Given the description of an element on the screen output the (x, y) to click on. 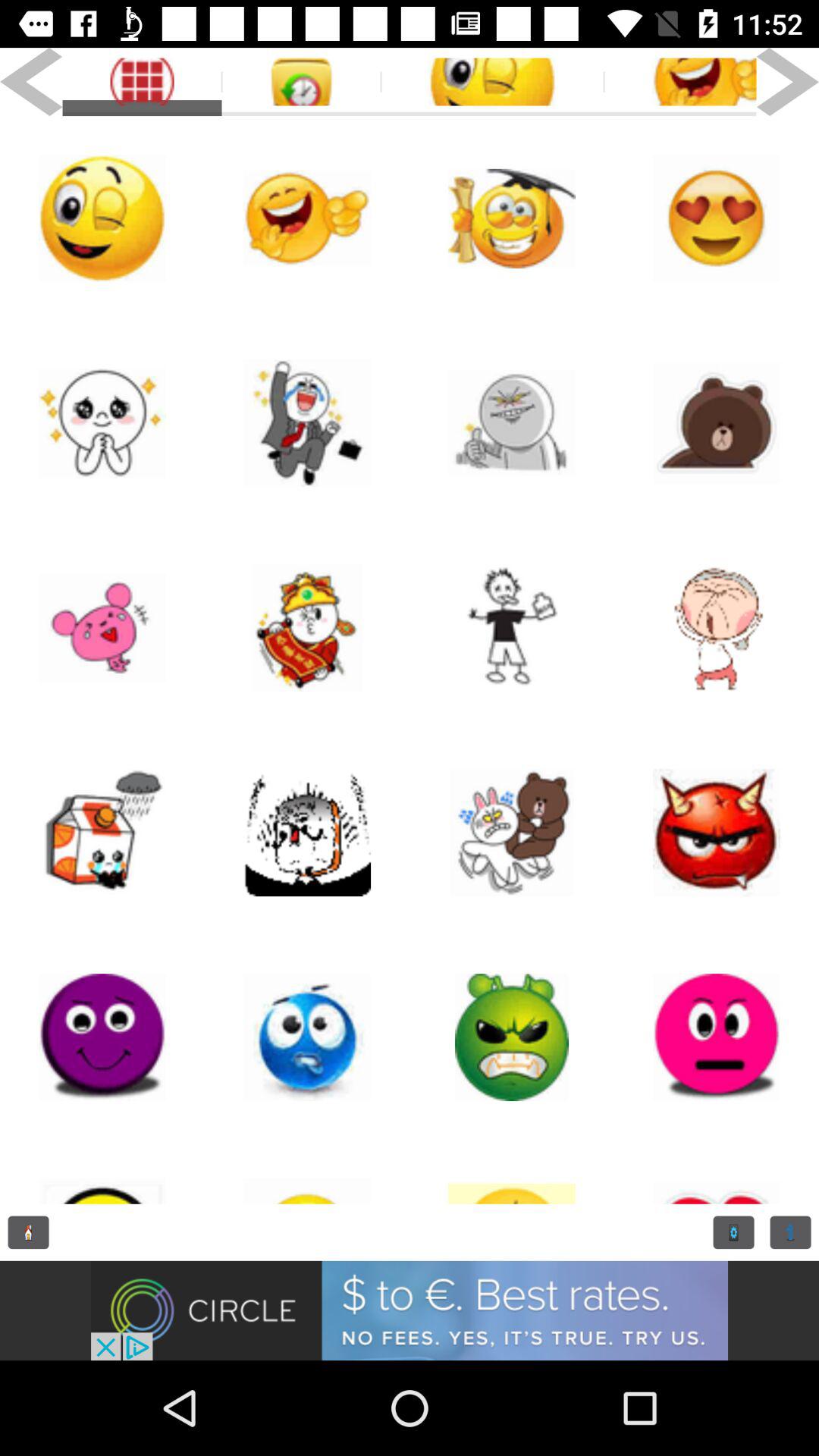
smile page (716, 1037)
